Given the description of an element on the screen output the (x, y) to click on. 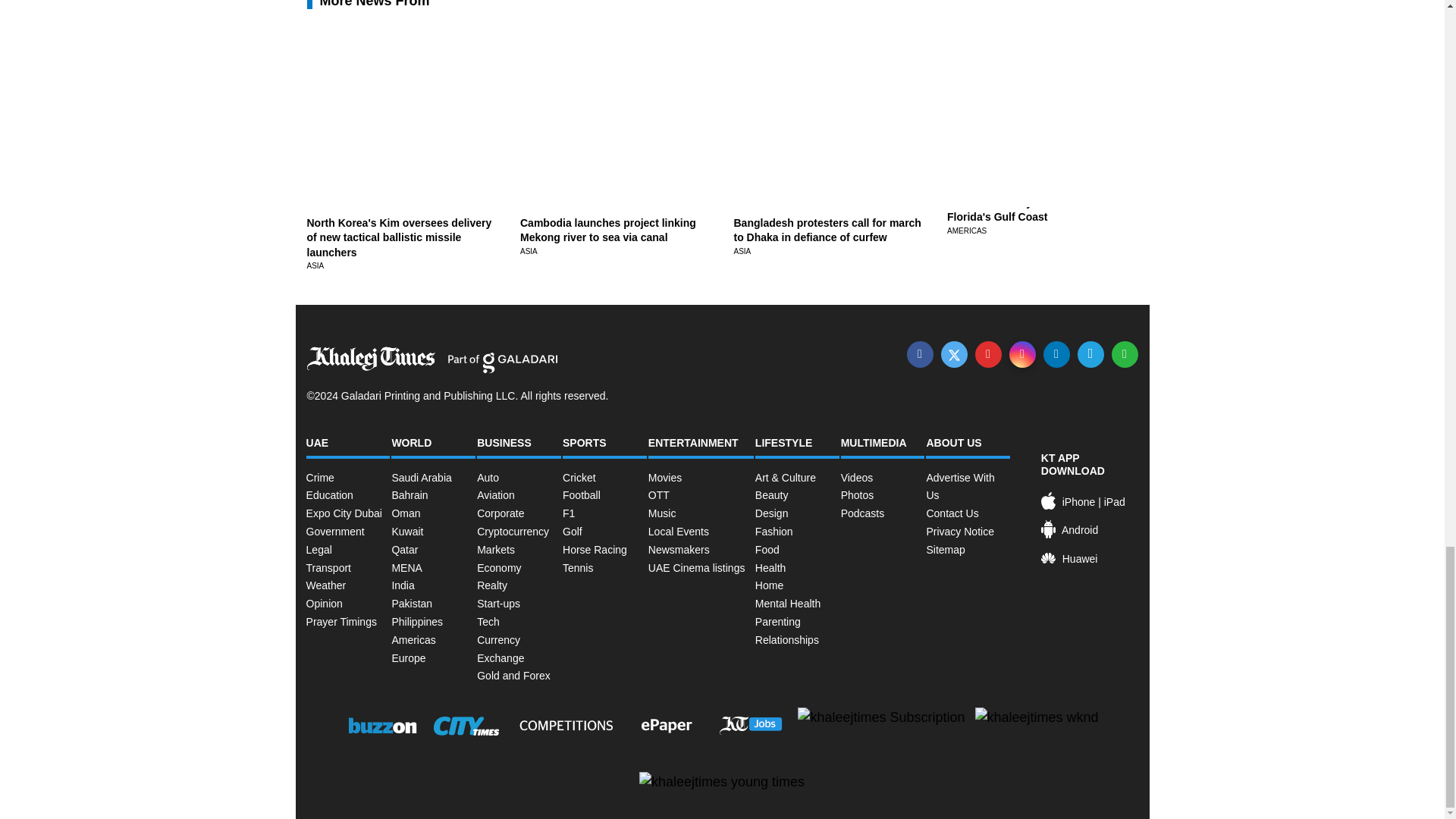
Hurricane Debby takes aim at Florida's Gulf Coast (1021, 209)
